Given the description of an element on the screen output the (x, y) to click on. 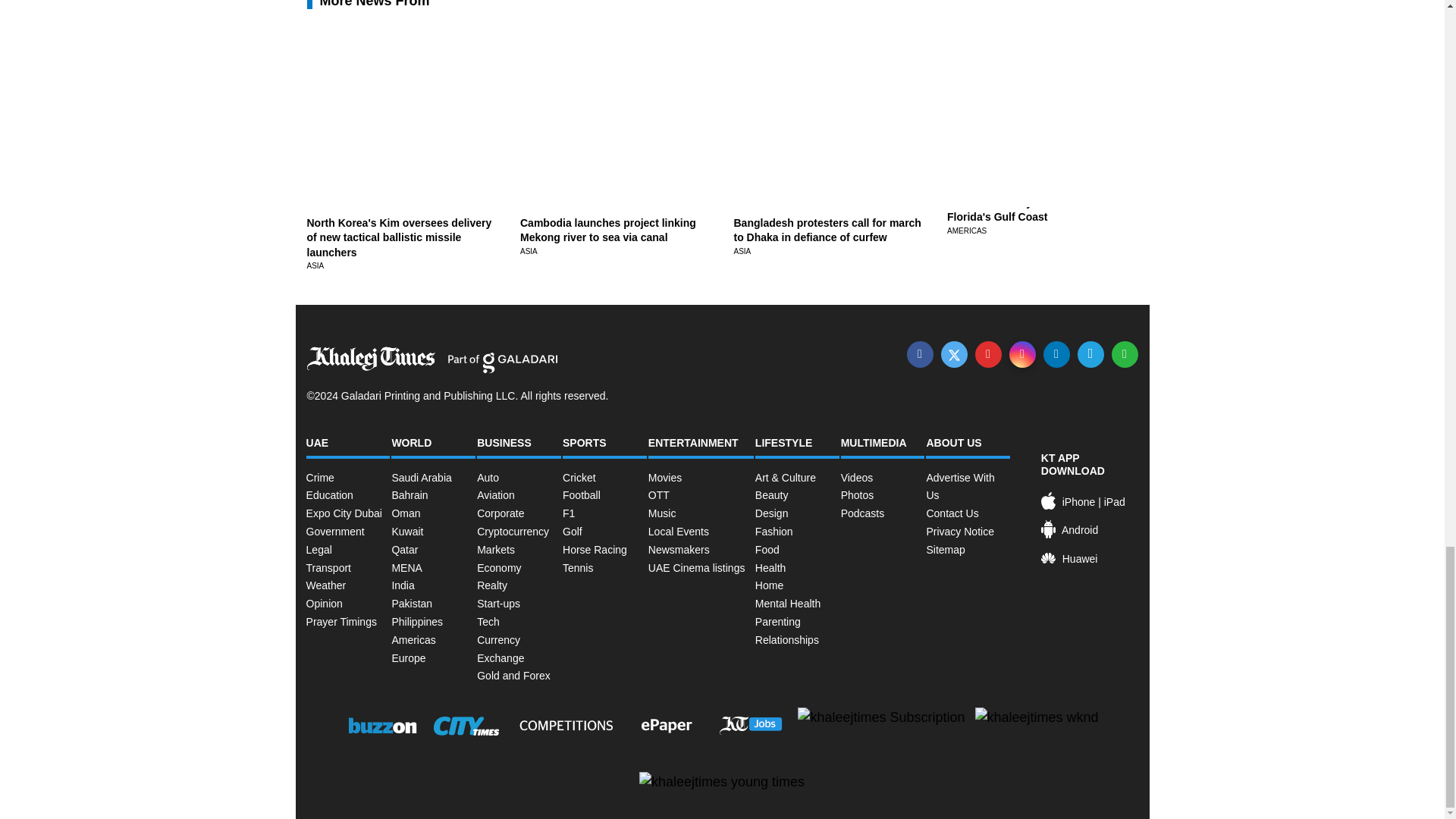
Hurricane Debby takes aim at Florida's Gulf Coast (1021, 209)
